Given the description of an element on the screen output the (x, y) to click on. 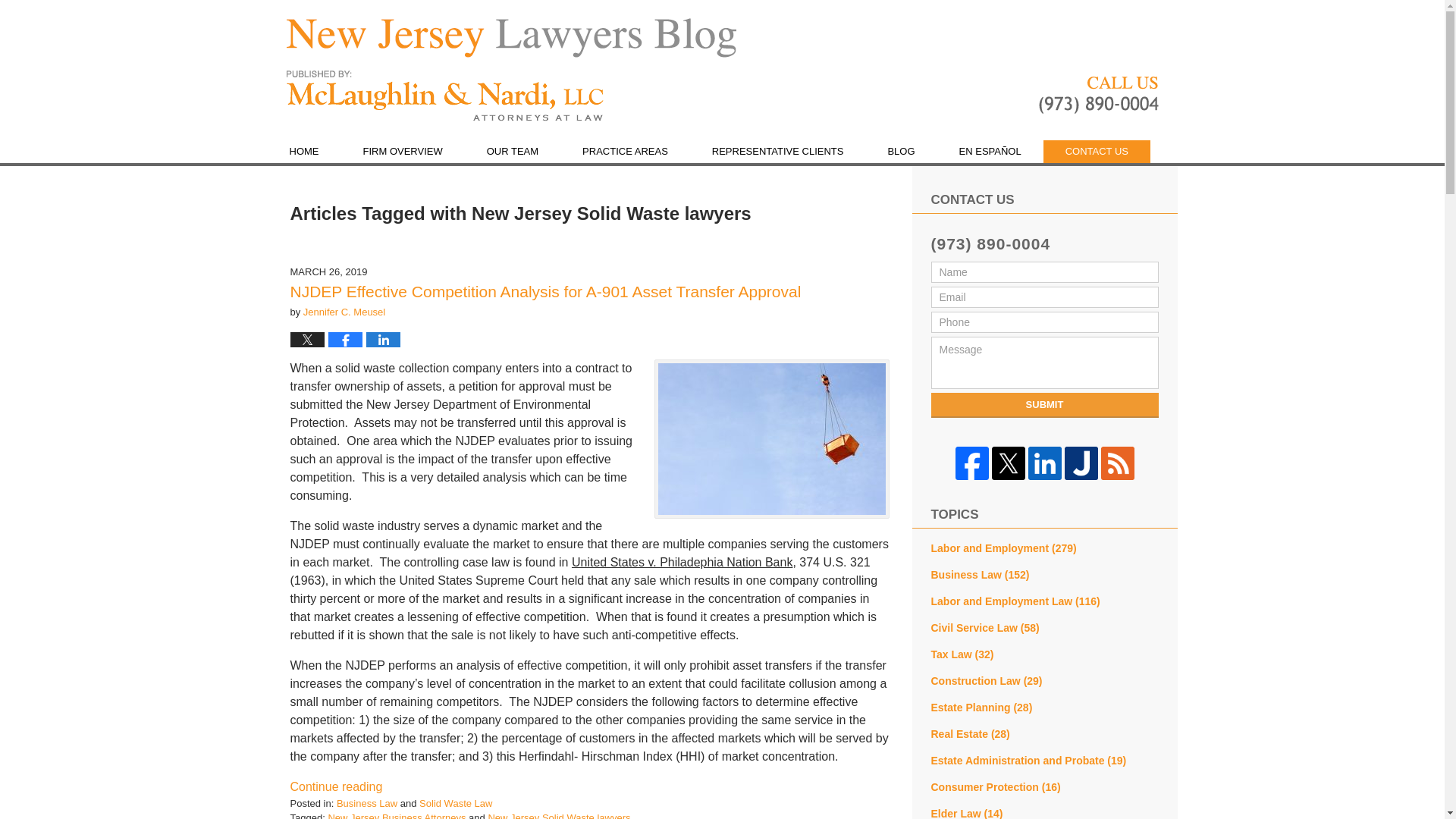
Continue reading (335, 786)
View all posts in Business Law (366, 803)
BLOG (900, 151)
New Jersey Lawyers Blog (445, 95)
View all posts tagged with New Jersey Solid Waste lawyers (558, 815)
New Jersey Business Attorneys (396, 815)
HOME (303, 151)
FIRM OVERVIEW (402, 151)
REPRESENTATIVE CLIENTS (778, 151)
View all posts in Solid Waste Law (455, 803)
New Jersey Solid Waste lawyers (558, 815)
PRACTICE AREAS (625, 151)
